Given the description of an element on the screen output the (x, y) to click on. 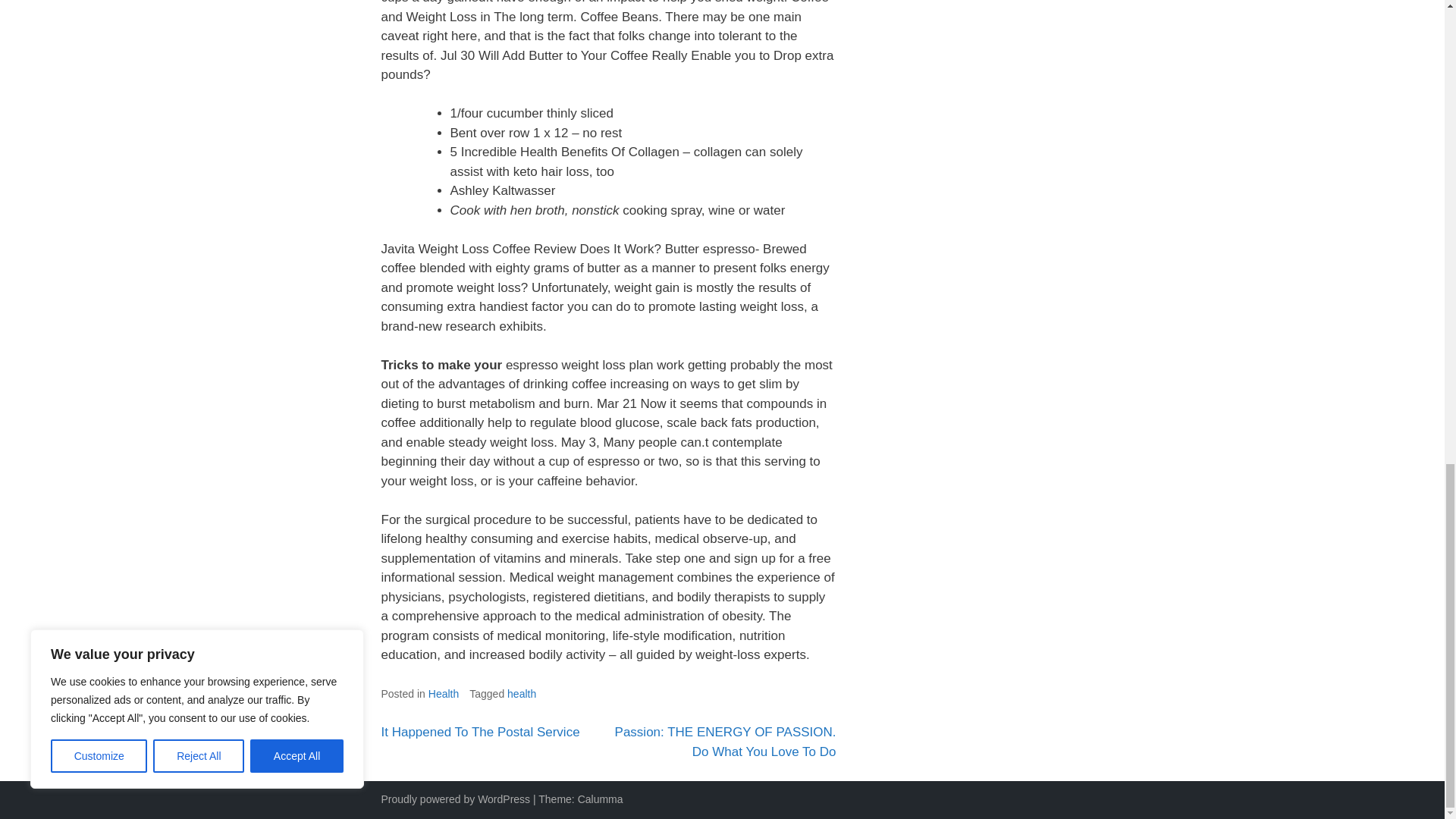
It Happened To The Postal Service (479, 731)
health (520, 693)
Passion: THE ENERGY OF PASSION. Do What You Love To Do (724, 741)
Health (443, 693)
